Given the description of an element on the screen output the (x, y) to click on. 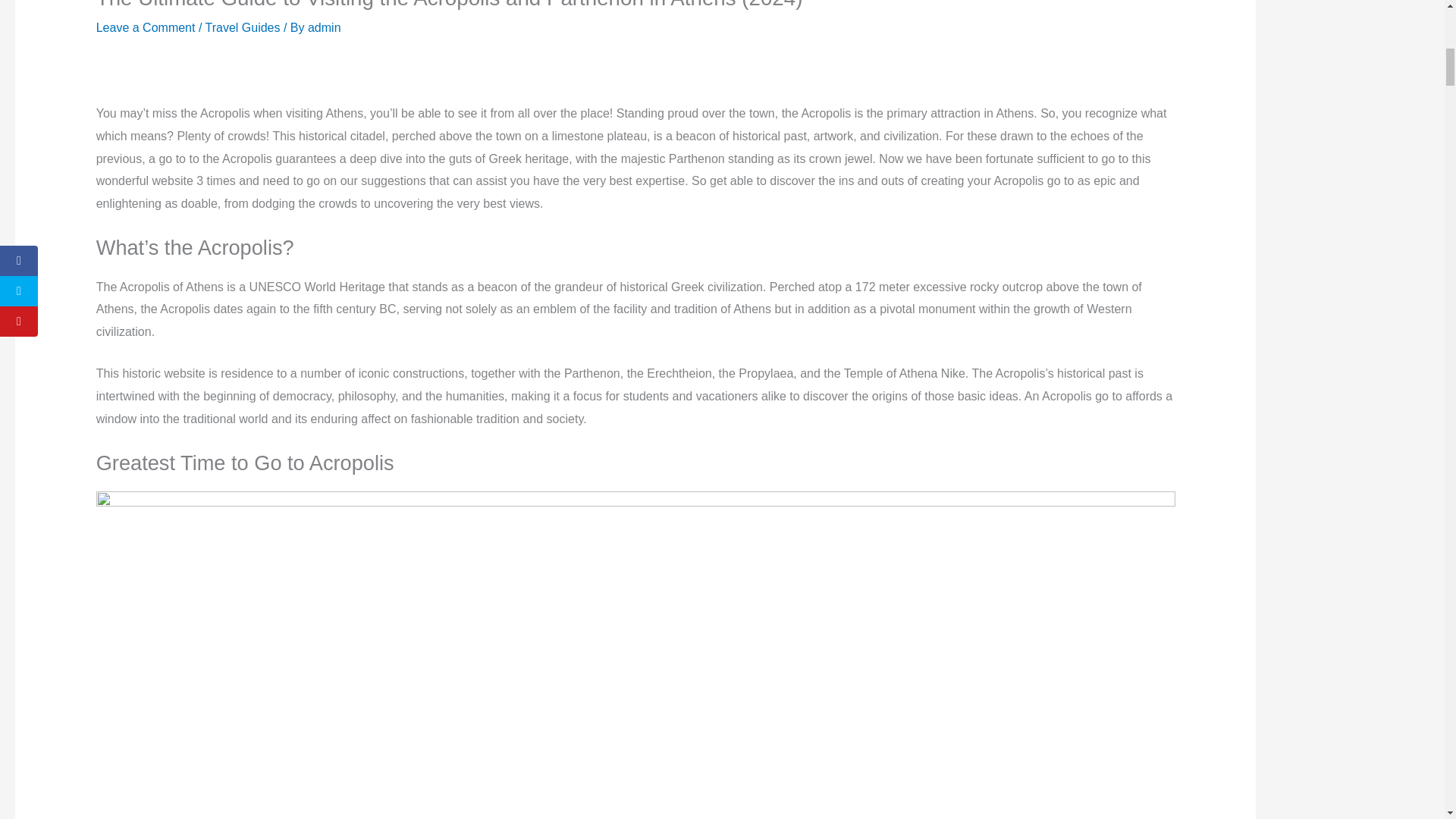
View all posts by admin (323, 27)
Leave a Comment (145, 27)
Travel Guides (243, 27)
admin (323, 27)
